Given the description of an element on the screen output the (x, y) to click on. 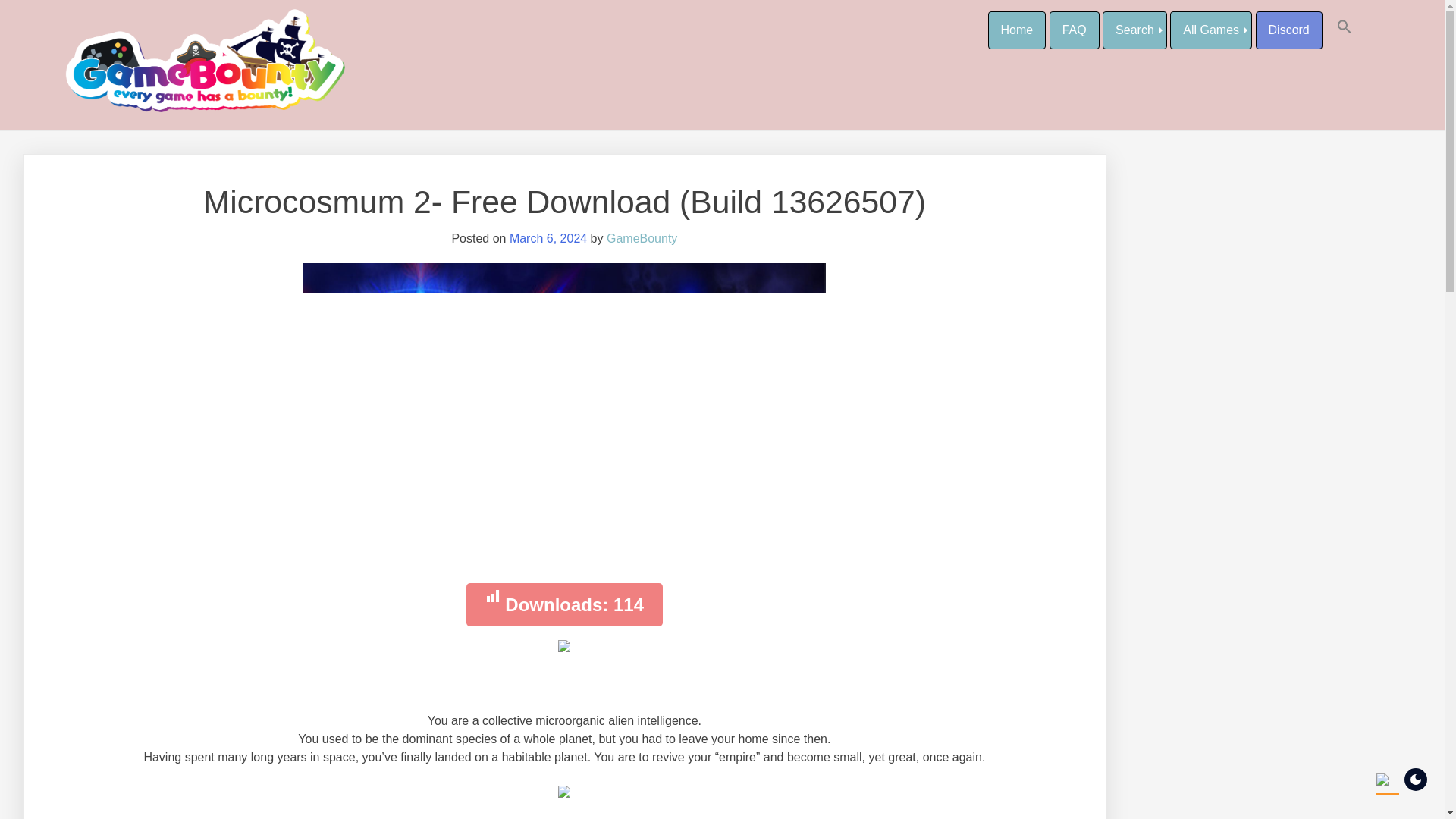
discordMenuLink (1288, 30)
Discord (1288, 30)
Search (1134, 30)
March 6, 2024 (547, 237)
FAQ (1074, 30)
allgMenuLink (1211, 30)
homeMenuLink (1016, 30)
allgMenuLink (1134, 30)
Game Bounty (134, 24)
GameBounty (642, 237)
All Games (1211, 30)
faqMenuLink (1074, 30)
Home (1016, 30)
